Given the description of an element on the screen output the (x, y) to click on. 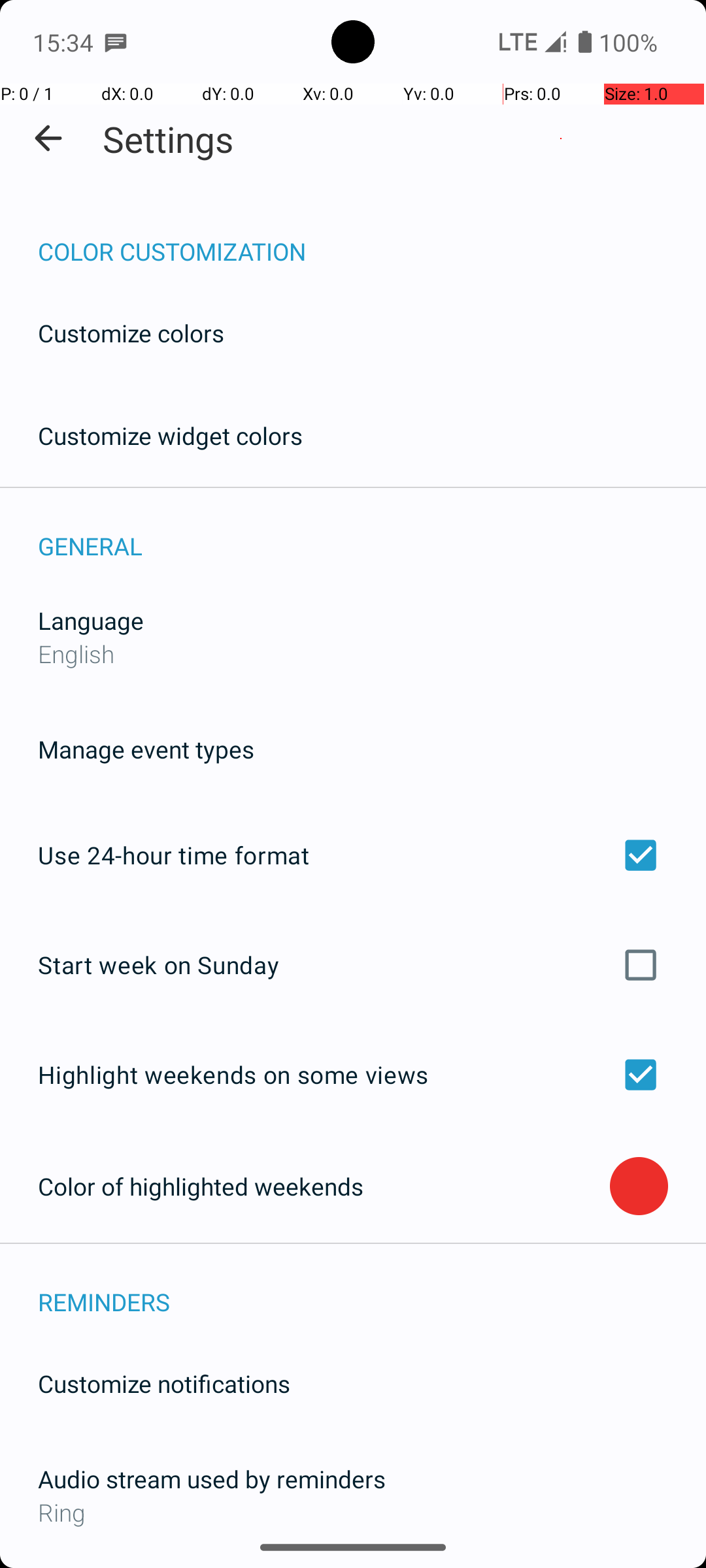
Color of highlighted weekends Element type: android.widget.TextView (323, 1186)
Ring Element type: android.widget.TextView (352, 1511)
